Given the description of an element on the screen output the (x, y) to click on. 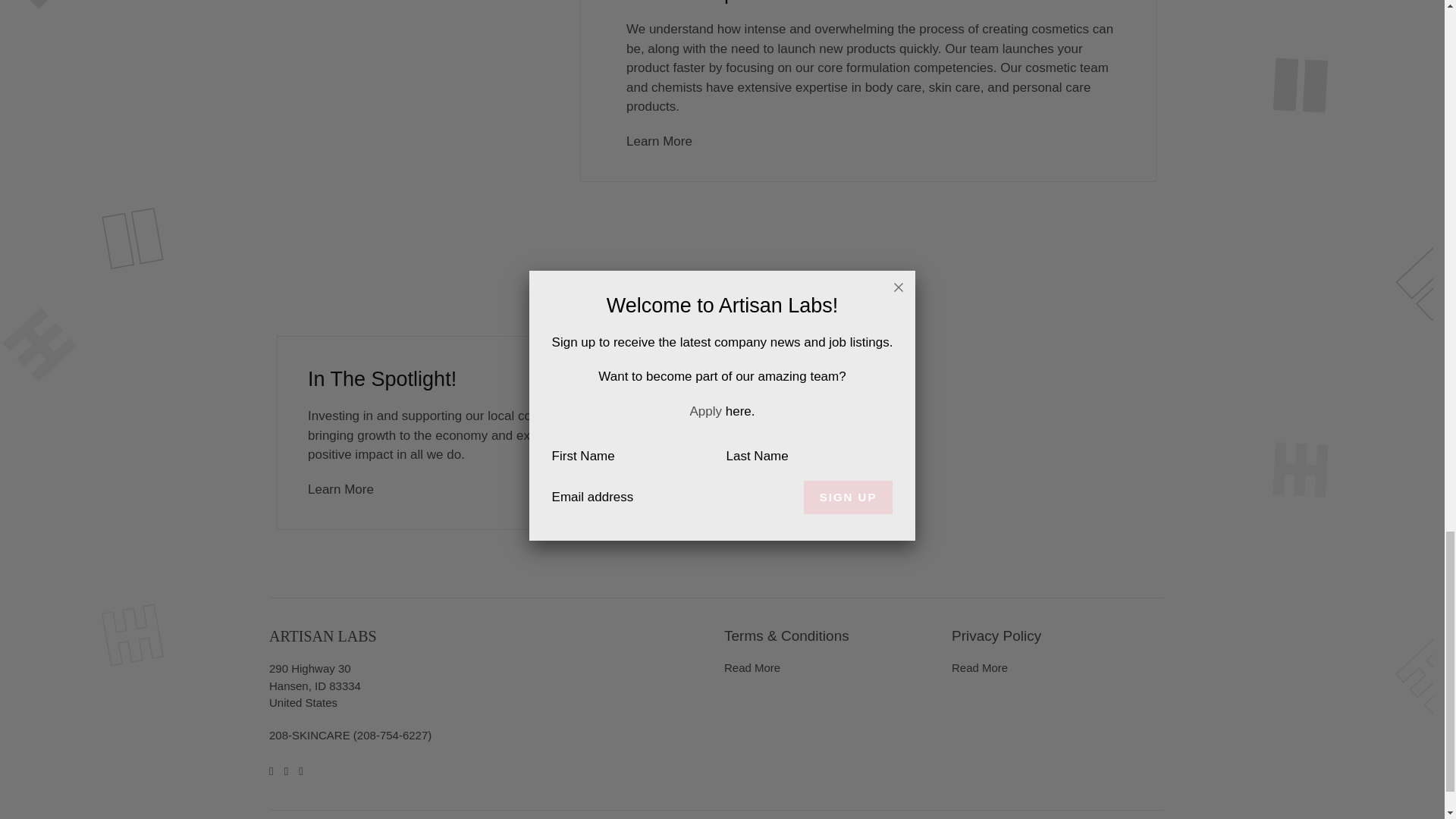
Read More (751, 667)
Learn More (340, 489)
Learn More (659, 141)
PRIVACY POLICY (979, 667)
